Given the description of an element on the screen output the (x, y) to click on. 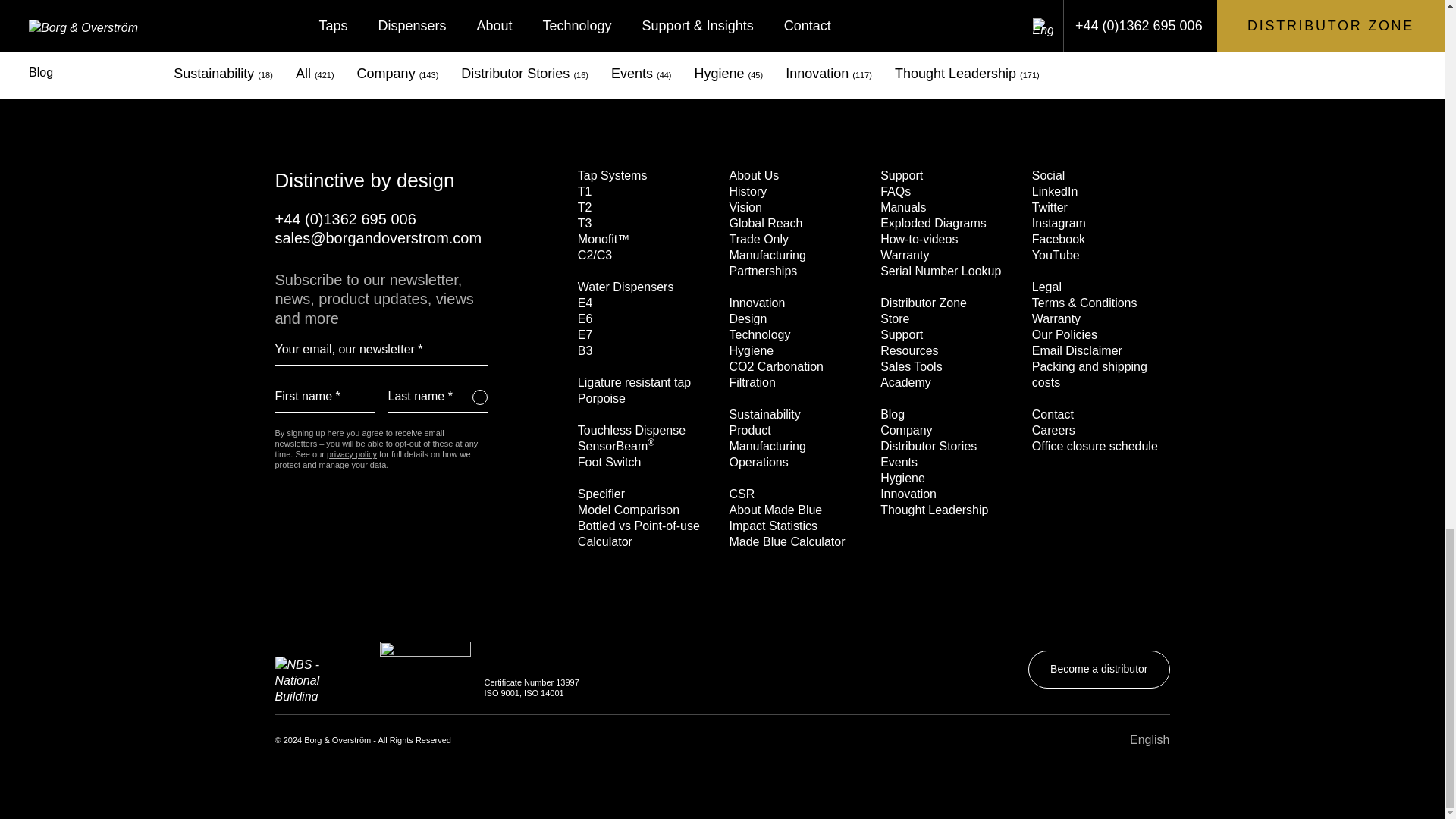
T3 (585, 223)
T2 (585, 206)
Become a distributor (1098, 62)
E4 (585, 302)
Water Dispensers (626, 286)
Find out where to buy (940, 62)
Subscribe (478, 396)
T1 (585, 191)
Tap Systems (612, 174)
